Given the description of an element on the screen output the (x, y) to click on. 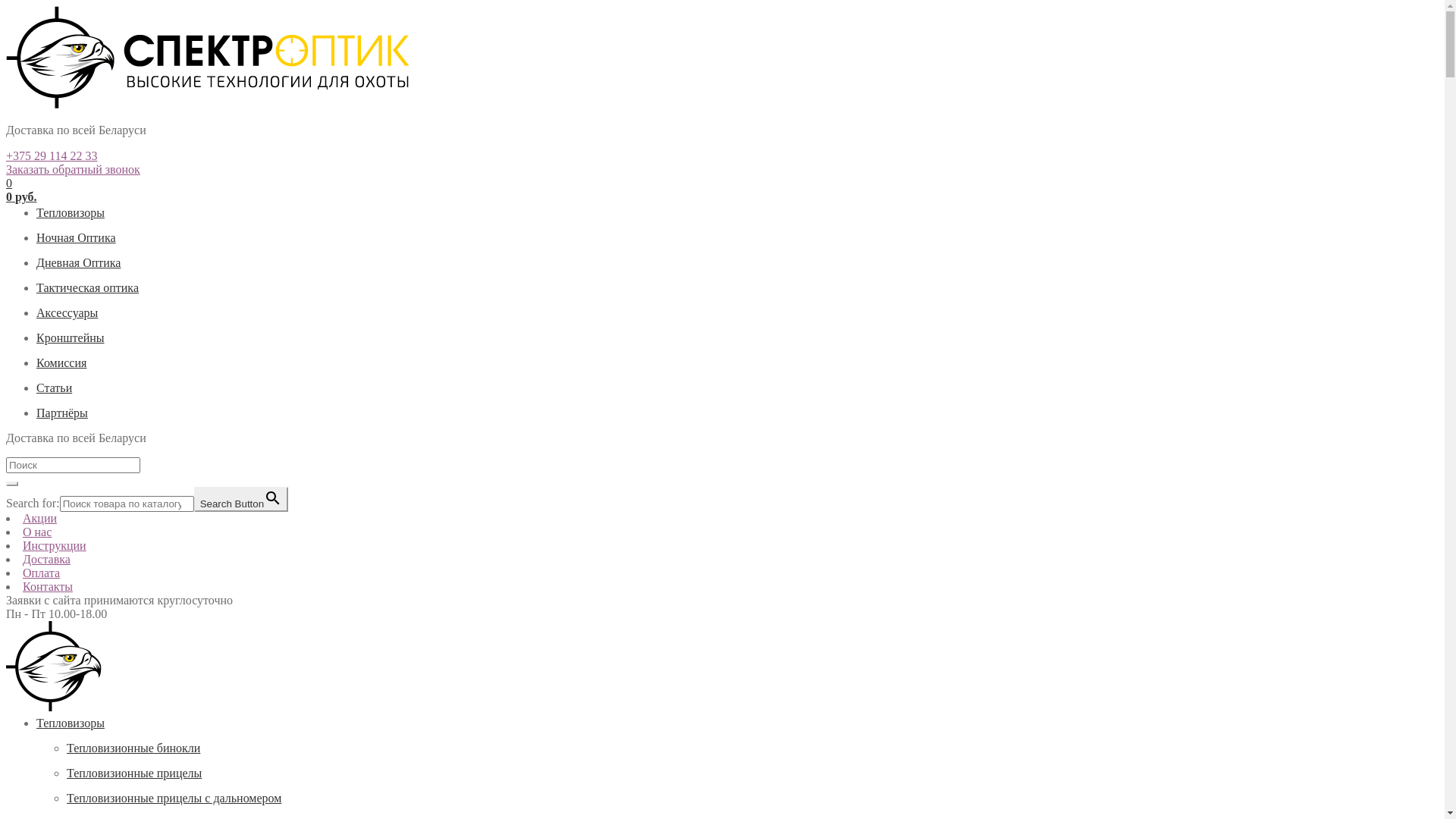
+375 29 114 22 33 Element type: text (51, 155)
Search for: Element type: hover (73, 465)
Search Button Element type: text (241, 498)
